Given the description of an element on the screen output the (x, y) to click on. 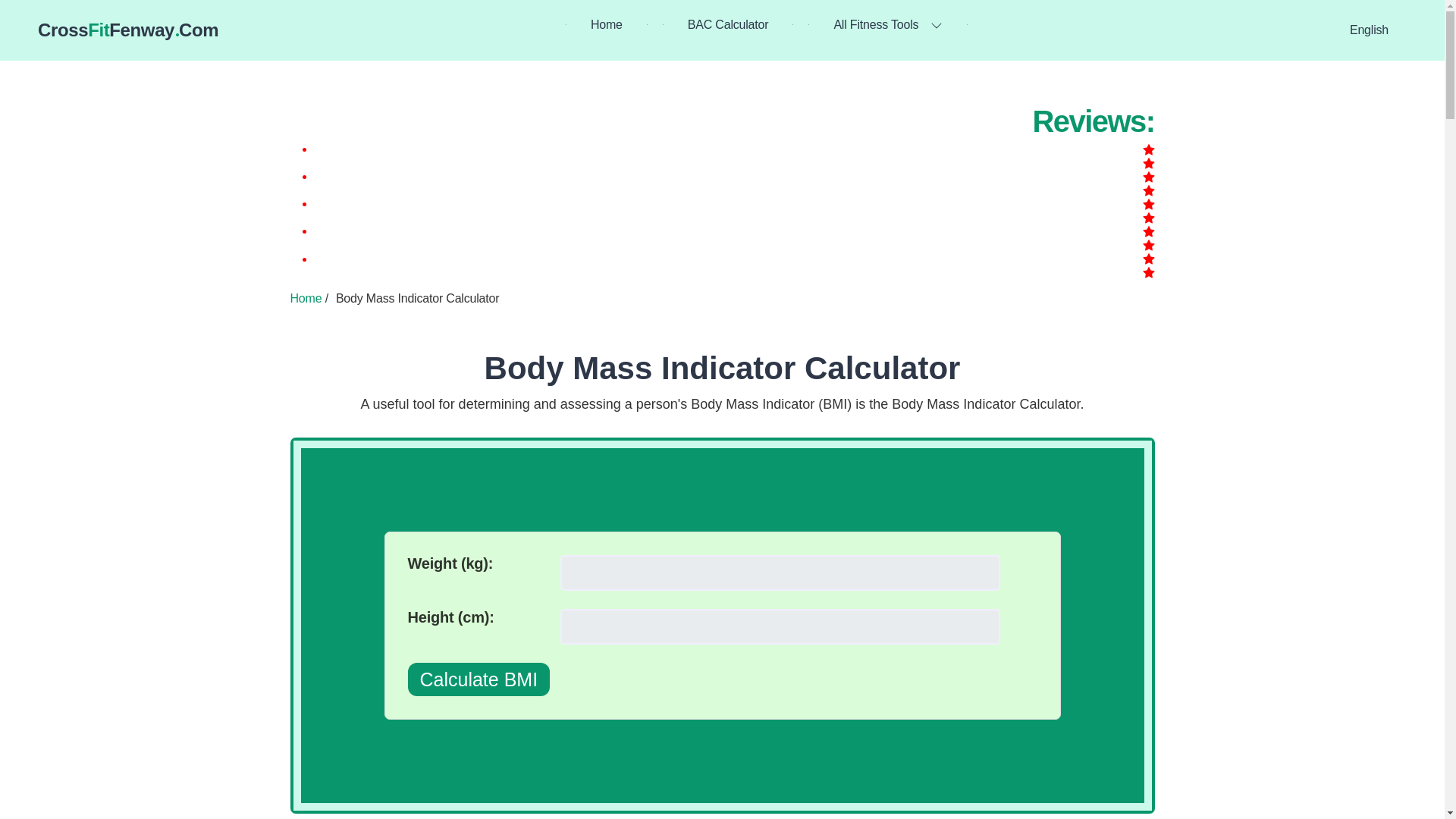
Body Mass Indicator Calculator (722, 367)
Calculate BMI (478, 679)
BAC Calculator (727, 24)
how to make a pdf a link (127, 30)
Home (305, 297)
how to send pdf to email (607, 24)
